Given the description of an element on the screen output the (x, y) to click on. 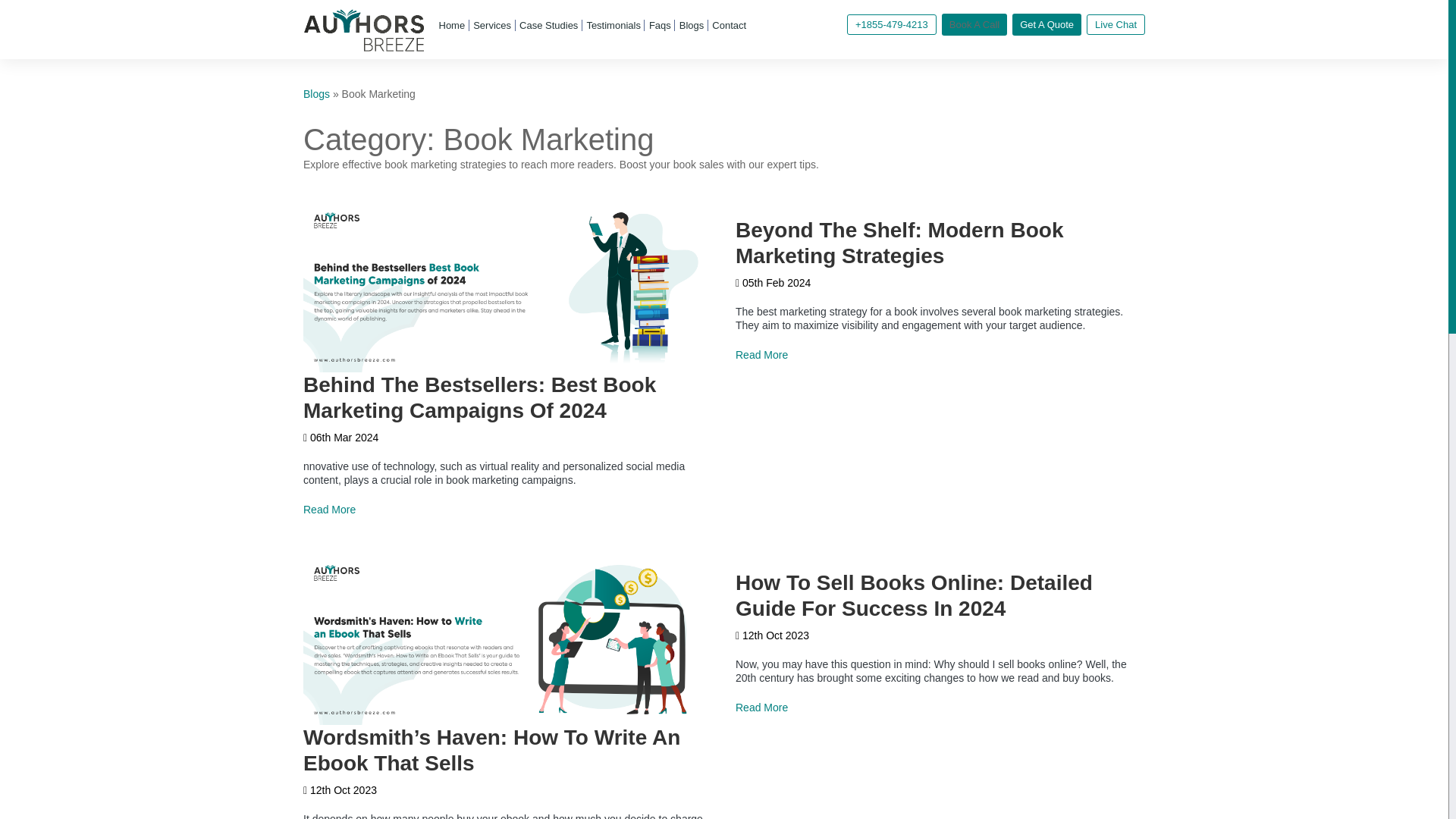
Services (491, 25)
